Given the description of an element on the screen output the (x, y) to click on. 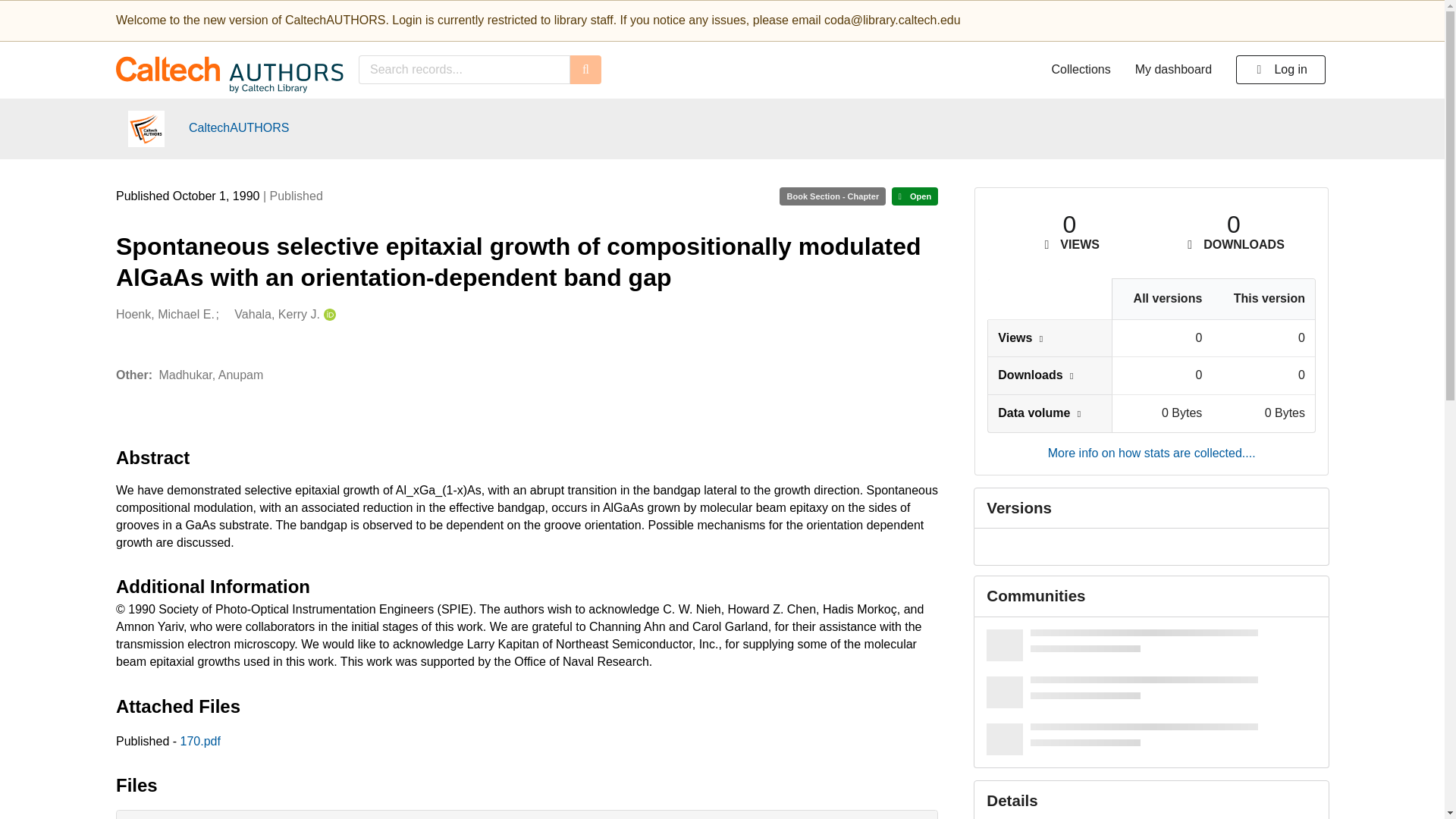
Log in (1280, 69)
Access status (915, 196)
Resource type (831, 196)
Skip to main (58, 18)
Publication date (189, 195)
170.pdf (200, 739)
More info on how stats are collected.... (1151, 452)
Vahala, Kerry J.'s ORCID profile (328, 314)
Hoenk, Michael E. (165, 314)
My dashboard (1173, 69)
